Given the description of an element on the screen output the (x, y) to click on. 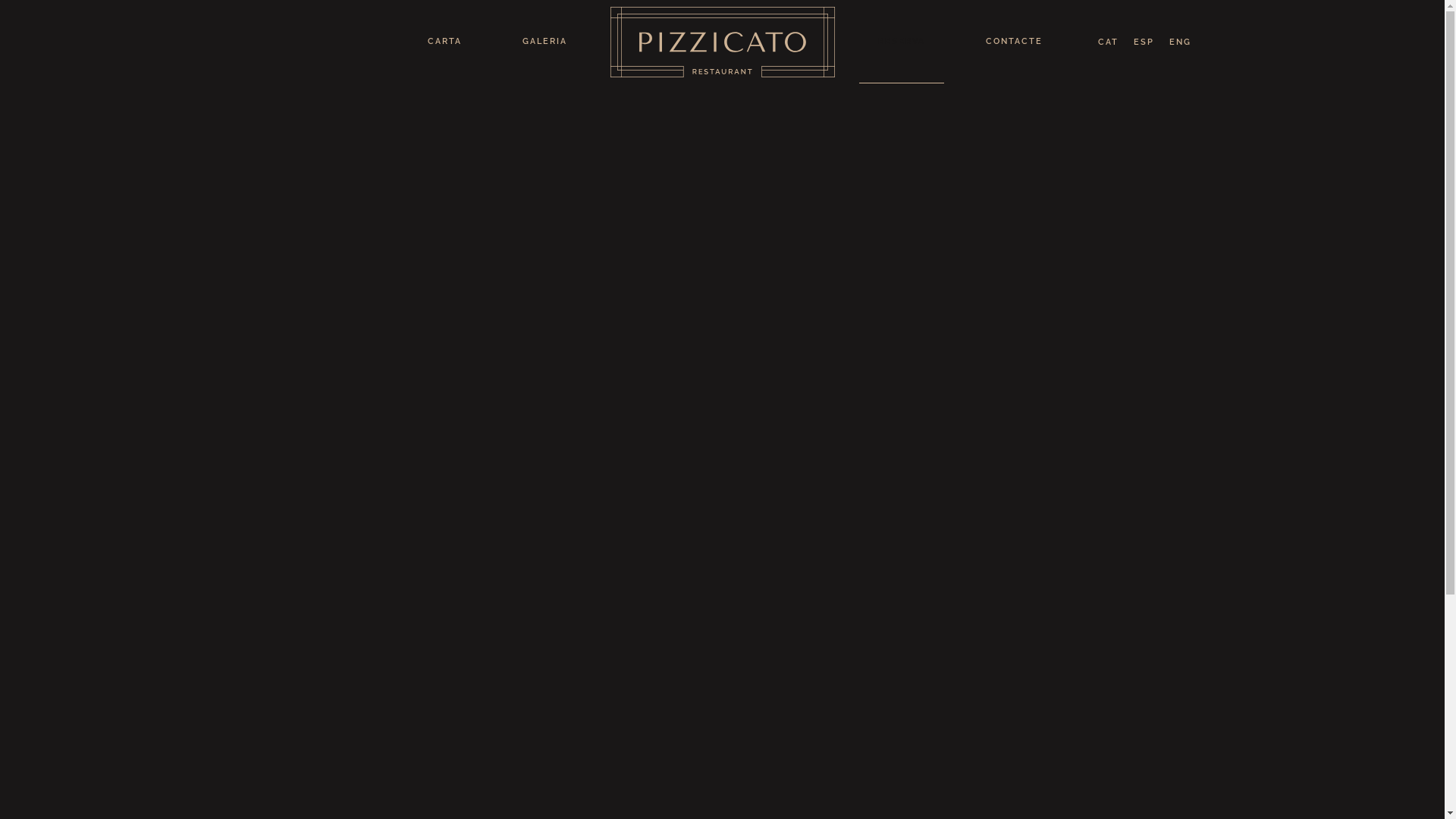
ESP Element type: text (1143, 41)
ENG Element type: text (1179, 41)
CAT Element type: text (1108, 41)
CONTACTE Element type: text (1013, 41)
RESERVA Element type: text (900, 41)
GALERIA Element type: text (544, 41)
CARTA Element type: text (443, 41)
Reservas Element type: hover (721, 450)
